Given the description of an element on the screen output the (x, y) to click on. 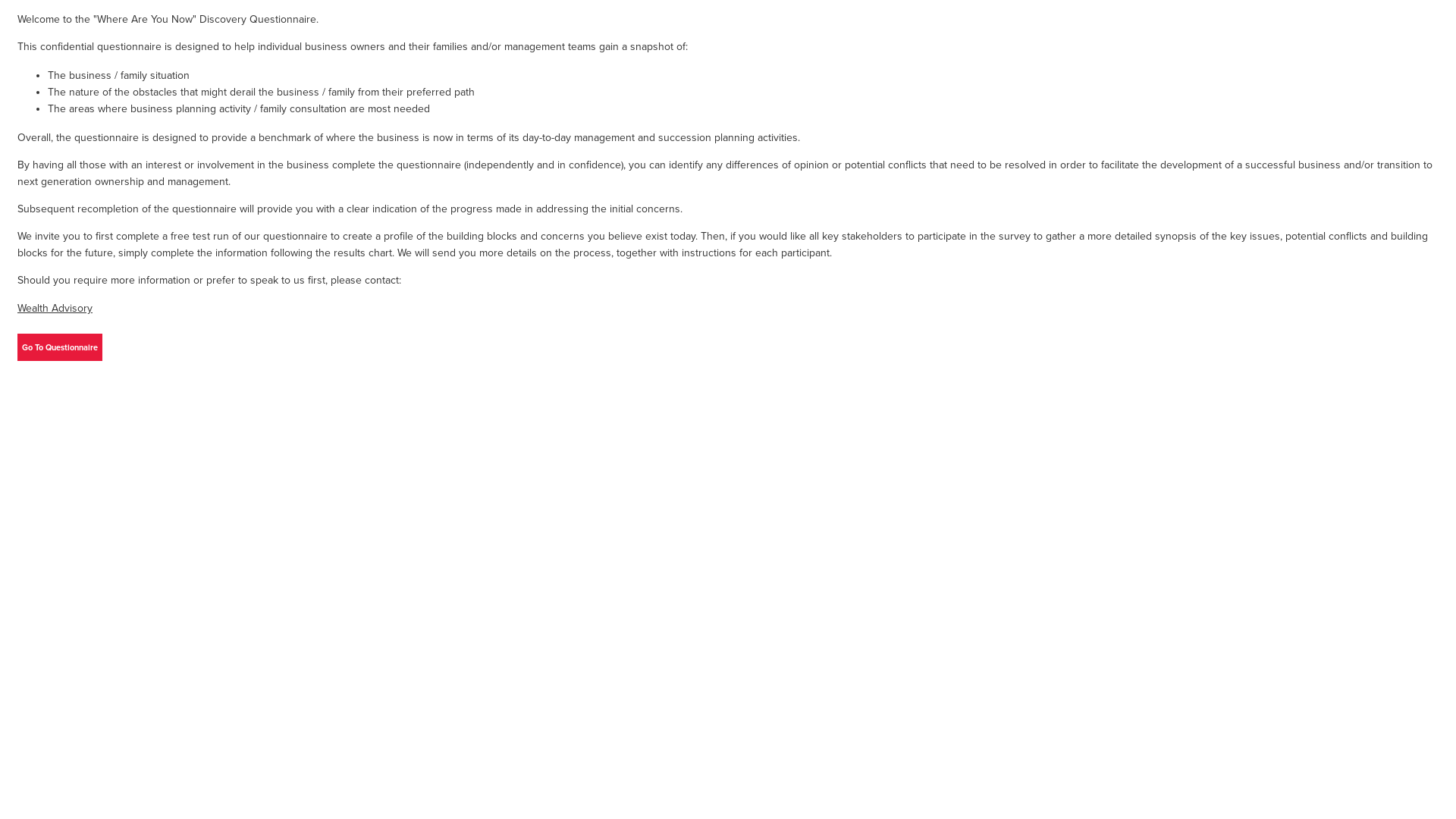
Wealth Advisory Element type: text (54, 307)
Go To Questionnaire Element type: text (59, 346)
